Given the description of an element on the screen output the (x, y) to click on. 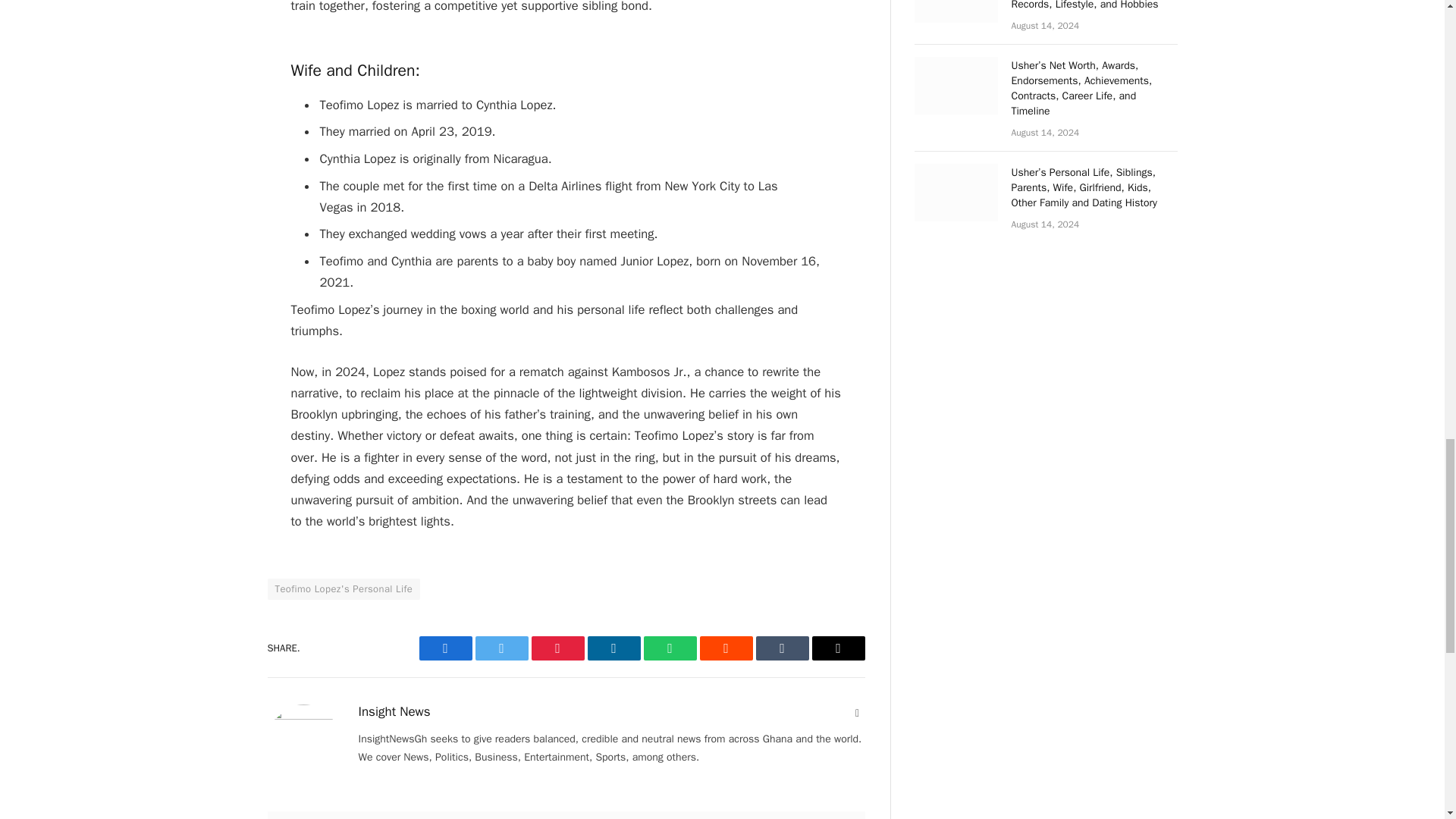
Teofimo Lopez's Personal Life (343, 588)
Share on Facebook (445, 648)
Facebook (445, 648)
